Given the description of an element on the screen output the (x, y) to click on. 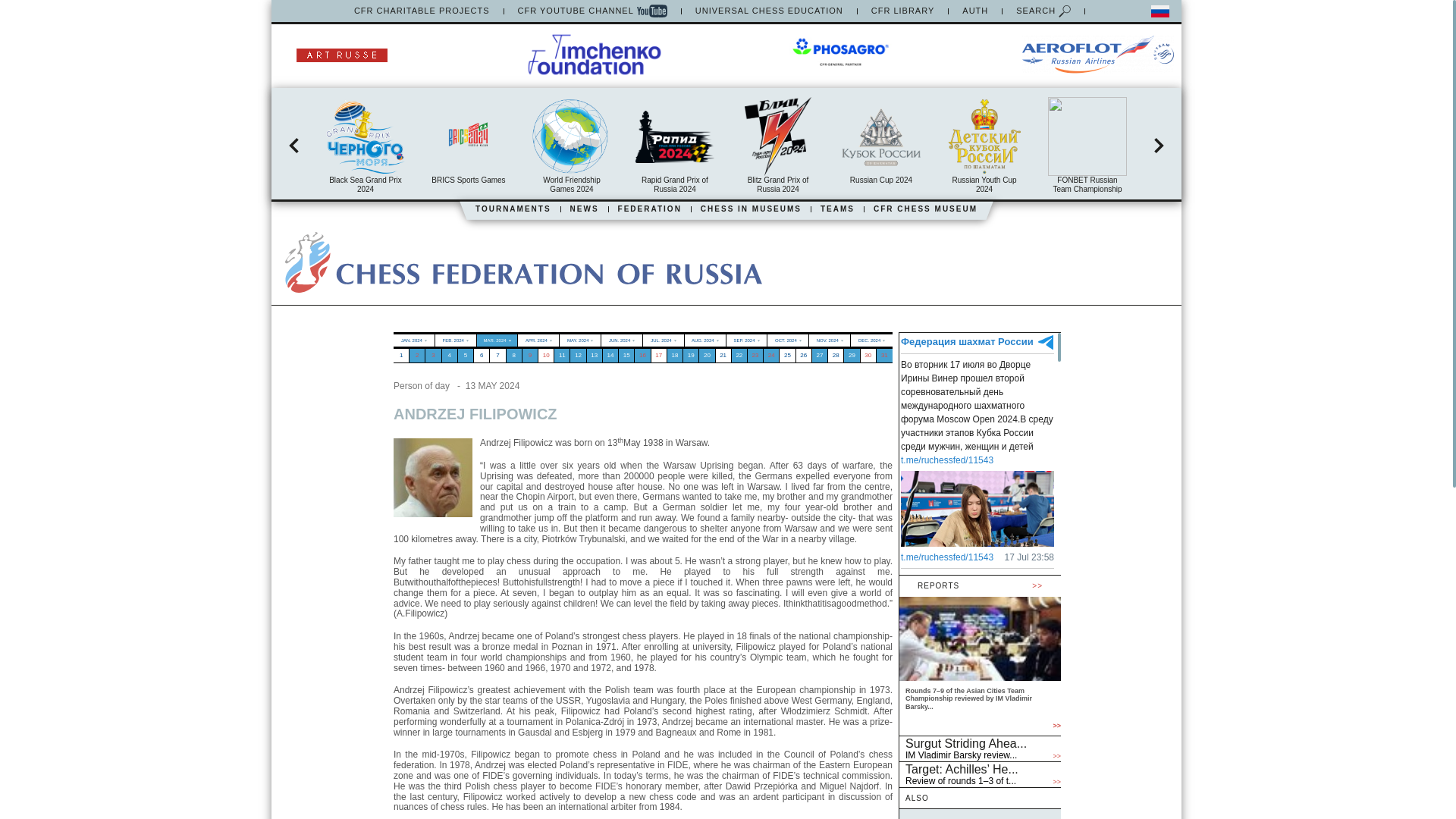
CFR YOUTUBE CHANNEL (592, 11)
CFR LIBRARY (902, 10)
NEWS (584, 208)
Rapid Grand Prix of Russia 2024 (674, 145)
AUTH (975, 10)
SEARCH (1043, 10)
World Friendship Games 2024 (571, 145)
UNIVERSAL CHESS EDUCATION (769, 10)
Black Sea Grand Prix 2024 (365, 145)
CHESS IN MUSEUMS (751, 208)
Blitz Grand Prix of Russia 2024 (777, 145)
CFR CHARITABLE PROJECTS (421, 10)
FEDERATION (649, 208)
TOURNAMENTS (513, 208)
Russian Cup 2024 (880, 141)
